Given the description of an element on the screen output the (x, y) to click on. 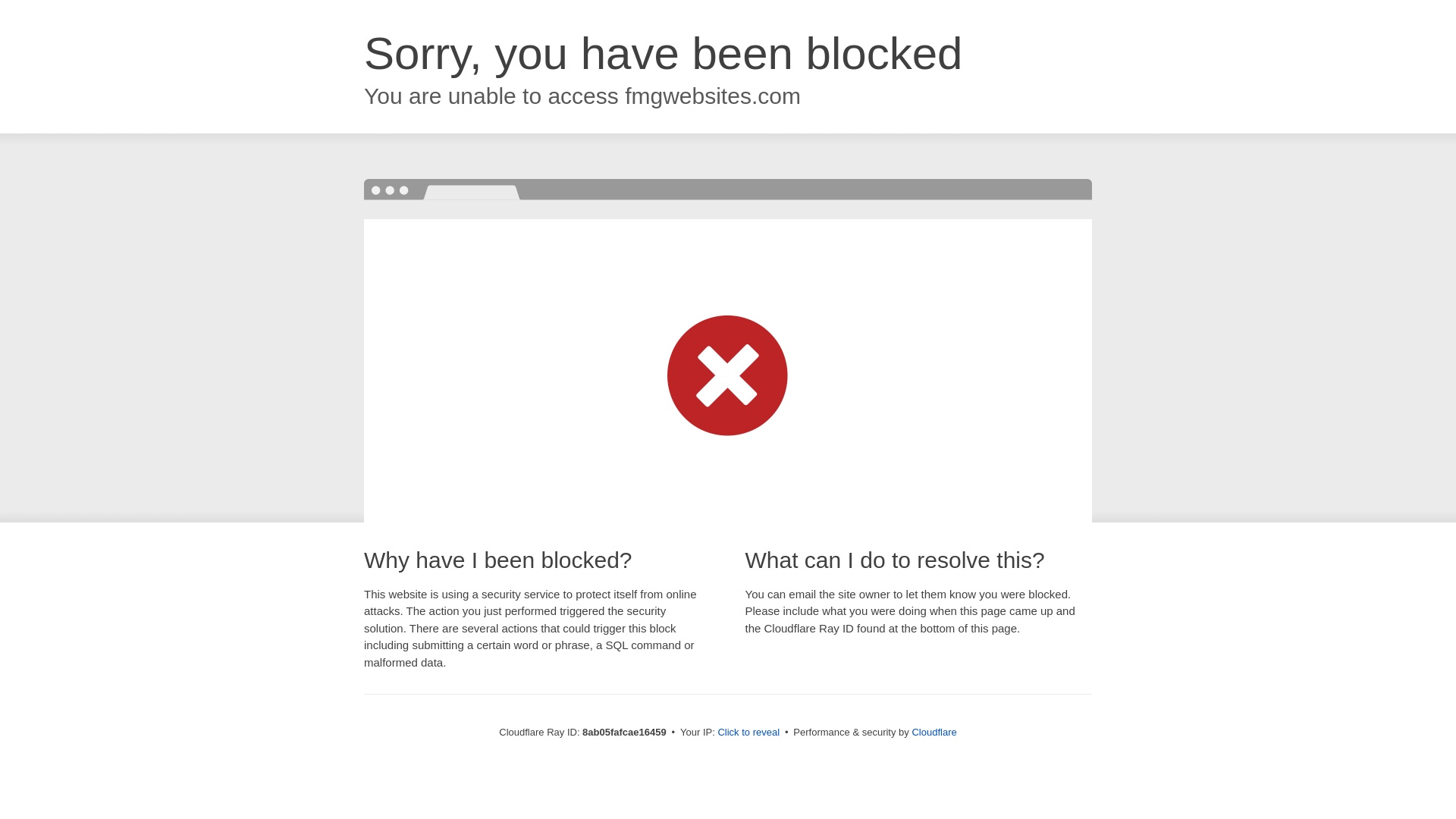
Cloudflare (933, 731)
Click to reveal (747, 732)
